Given the description of an element on the screen output the (x, y) to click on. 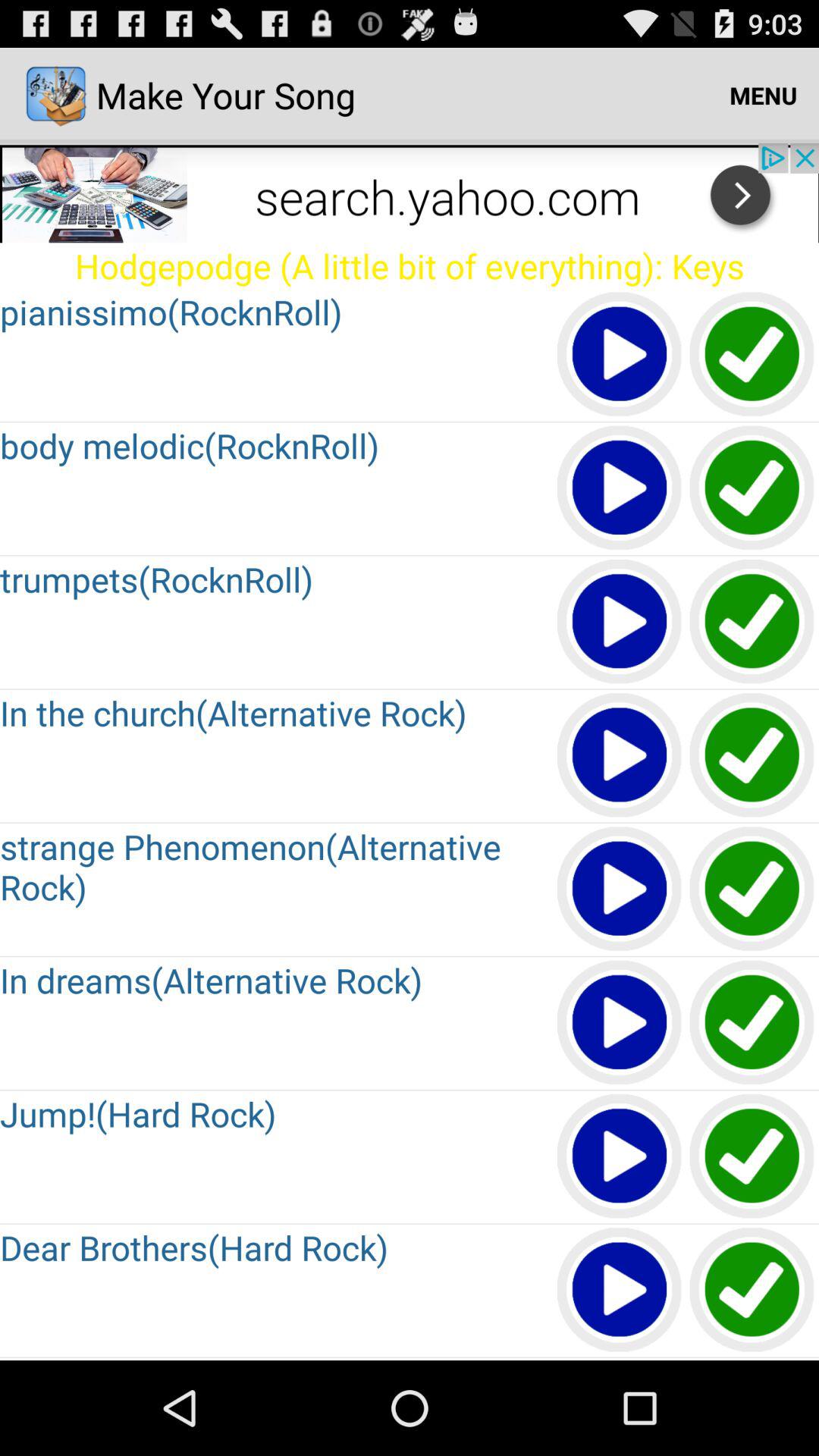
play option (619, 889)
